Given the description of an element on the screen output the (x, y) to click on. 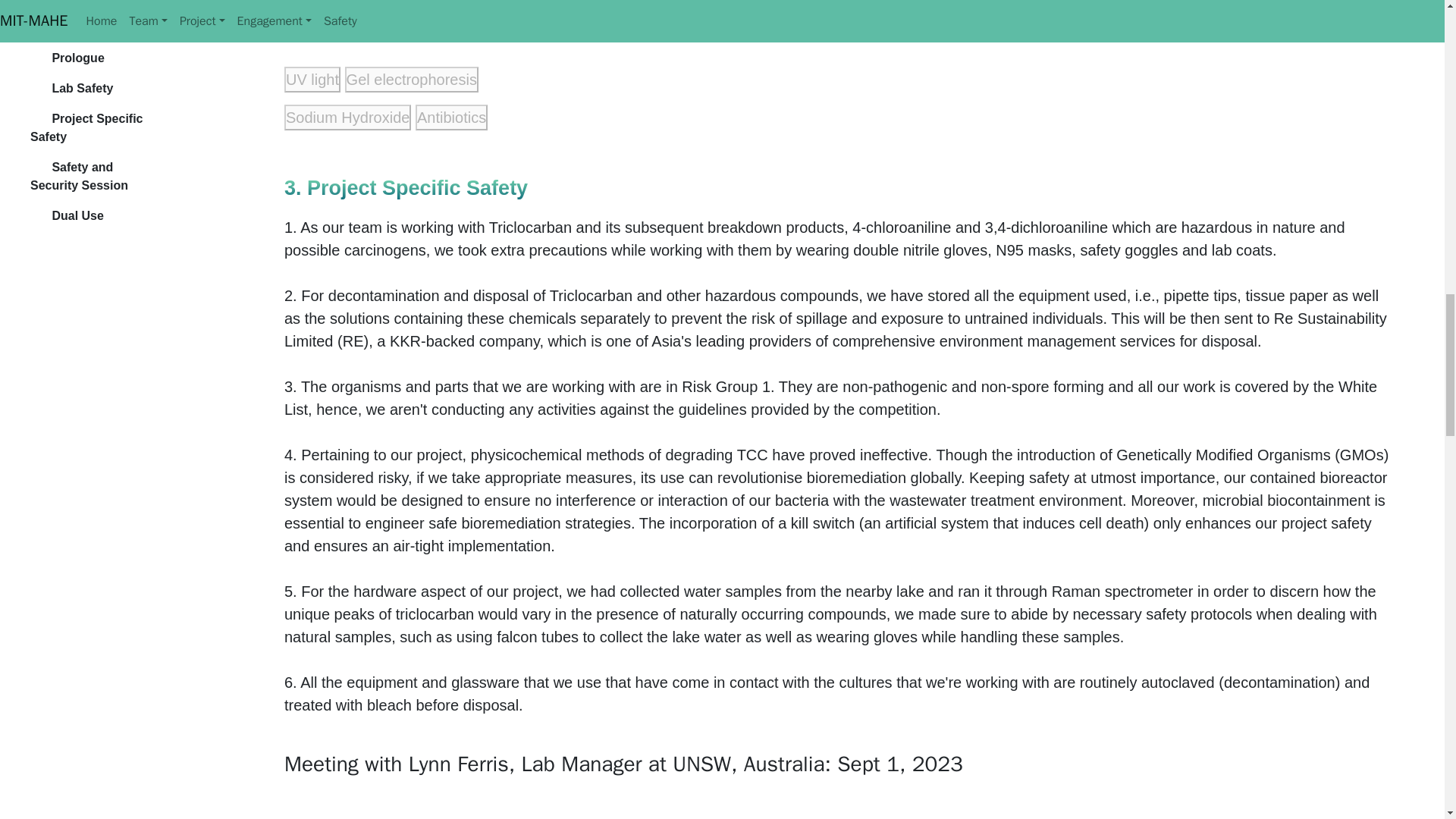
Antibiotics (450, 117)
Gel electrophoresis (412, 79)
Sodium Hydroxide (346, 117)
UV light (311, 79)
